Given the description of an element on the screen output the (x, y) to click on. 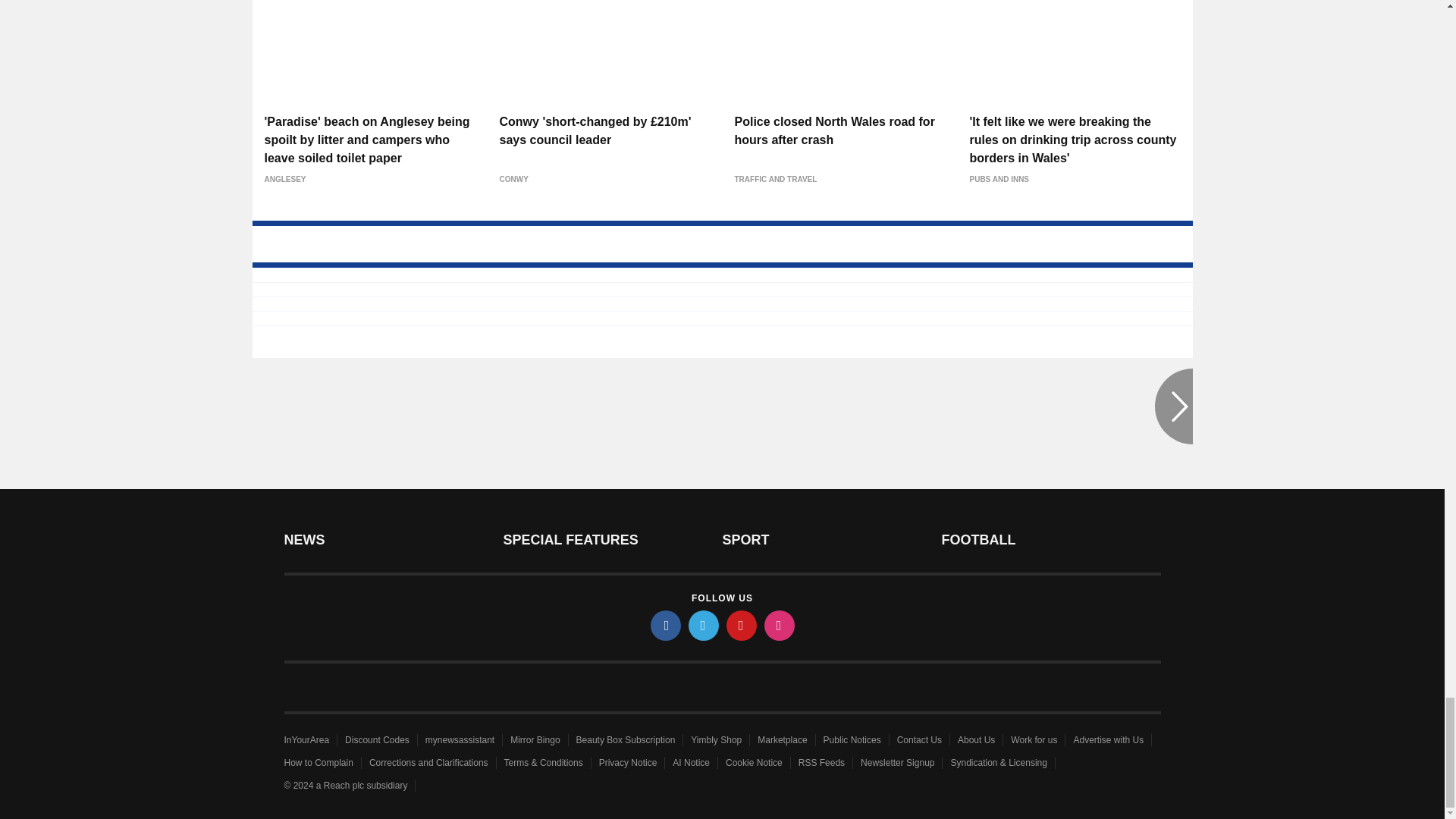
instagram (779, 625)
pinterest (741, 625)
facebook (665, 625)
twitter (703, 625)
